Given the description of an element on the screen output the (x, y) to click on. 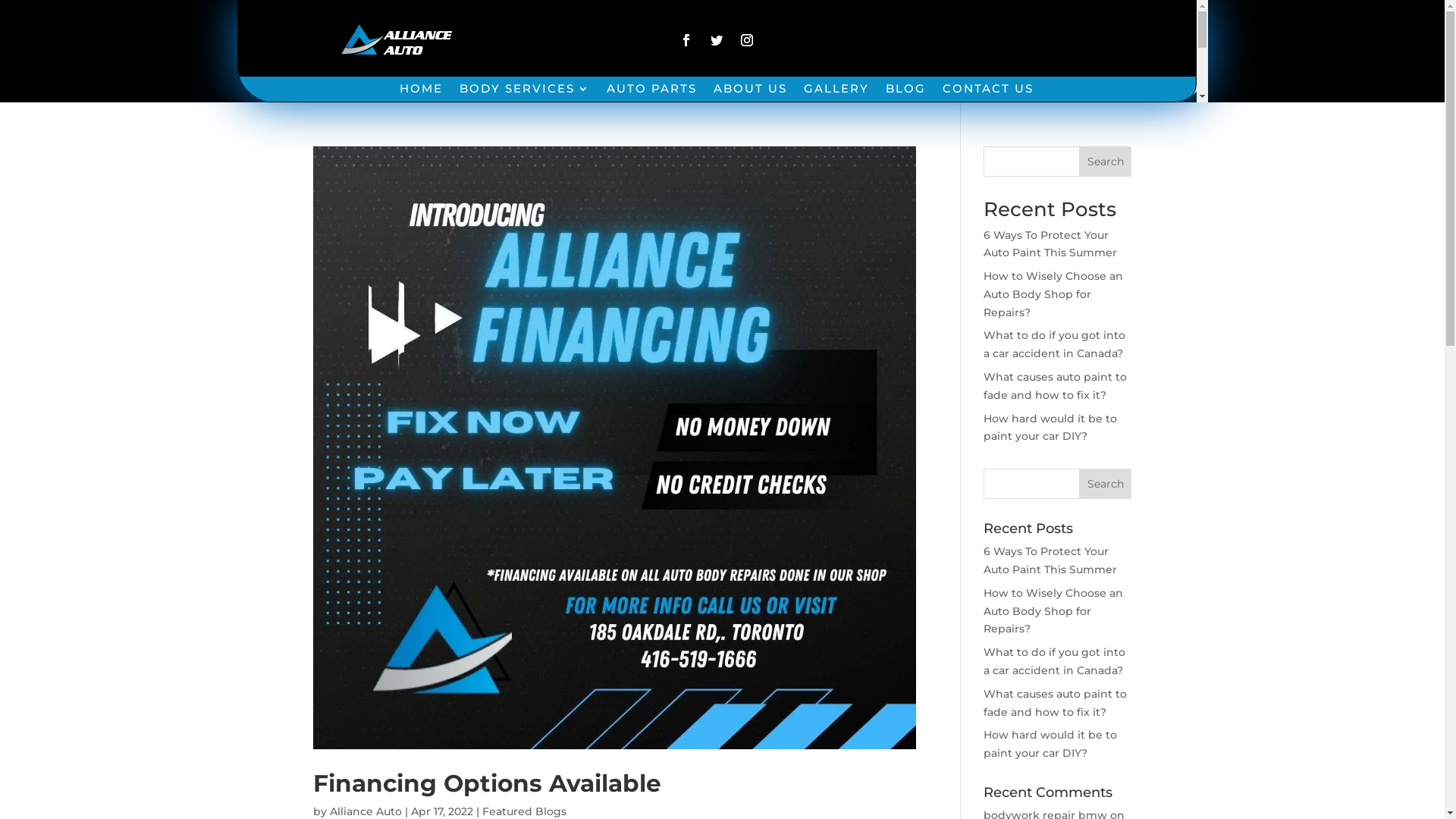
Search Element type: text (1105, 160)
Search Element type: text (1105, 483)
Financing Options Available Element type: text (486, 782)
Featured Blogs Element type: text (524, 811)
6 Ways To Protect Your Auto Paint This Summer Element type: text (1050, 243)
How hard would it be to paint your car DIY? Element type: text (1050, 743)
What causes auto paint to fade and how to fix it? Element type: text (1054, 702)
Follow on Facebook Element type: hover (686, 40)
BODY SERVICES Element type: text (524, 91)
GALLERY Element type: text (836, 91)
Alliance Auto Element type: text (365, 811)
Website logo-1 Element type: hover (396, 43)
HOME Element type: text (420, 91)
How to Wisely Choose an Auto Body Shop for Repairs? Element type: text (1053, 294)
Follow on Twitter Element type: hover (716, 40)
6 Ways To Protect Your Auto Paint This Summer Element type: text (1050, 560)
What to do if you got into a car accident in Canada? Element type: text (1054, 344)
What causes auto paint to fade and how to fix it? Element type: text (1054, 385)
AUTO PARTS Element type: text (651, 91)
CONTACT US Element type: text (987, 91)
Follow on Instagram Element type: hover (746, 40)
How to Wisely Choose an Auto Body Shop for Repairs? Element type: text (1053, 611)
BLOG Element type: text (905, 91)
ABOUT US Element type: text (750, 91)
How hard would it be to paint your car DIY? Element type: text (1050, 427)
What to do if you got into a car accident in Canada? Element type: text (1054, 661)
